Given the description of an element on the screen output the (x, y) to click on. 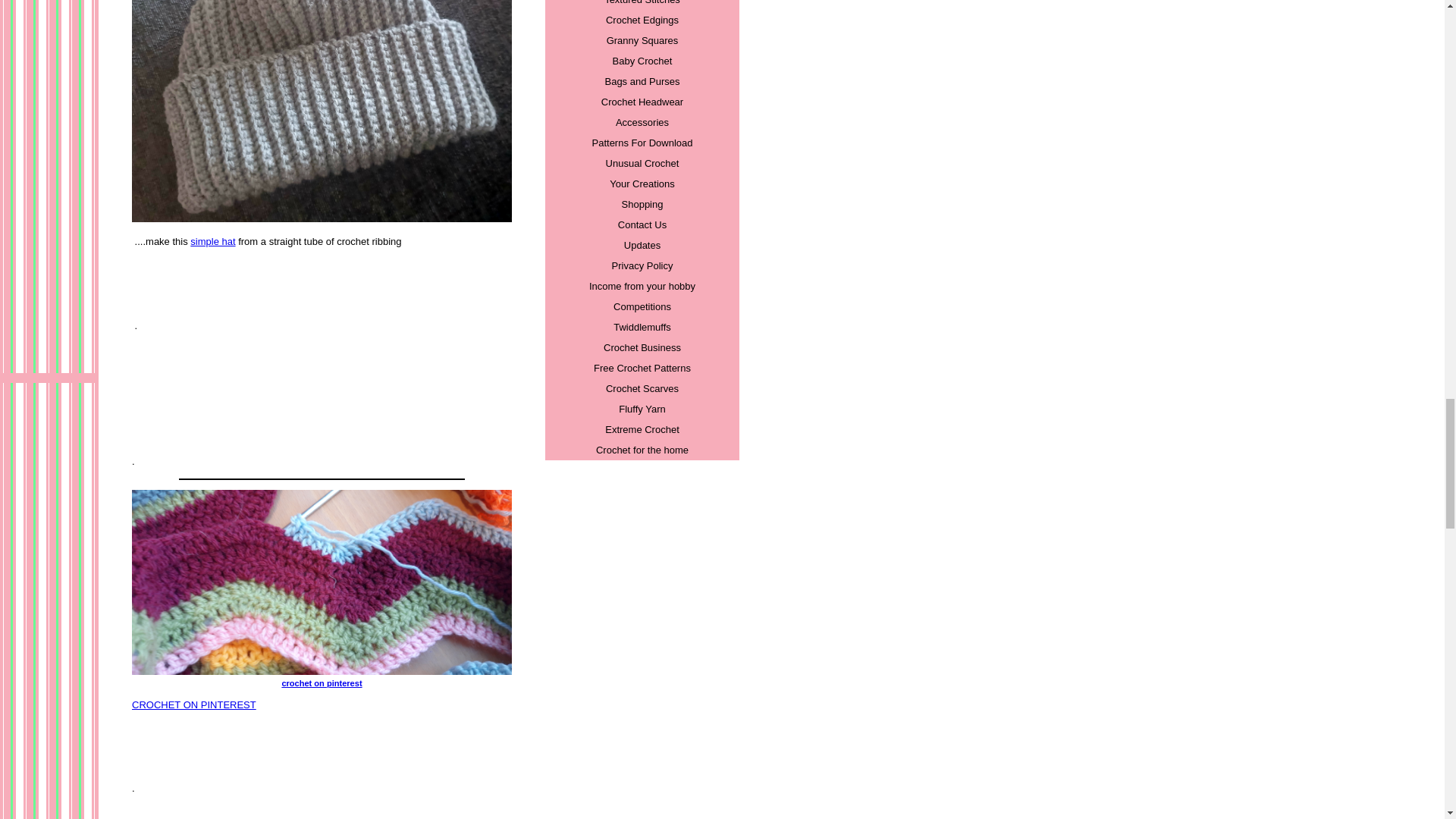
chevron scarf (322, 581)
simple hat (212, 241)
crochet on pinterest (322, 677)
Grey hat6 (322, 110)
Go to Crochet Ribbed Hat (322, 218)
CROCHET ON PINTEREST (194, 704)
